Given the description of an element on the screen output the (x, y) to click on. 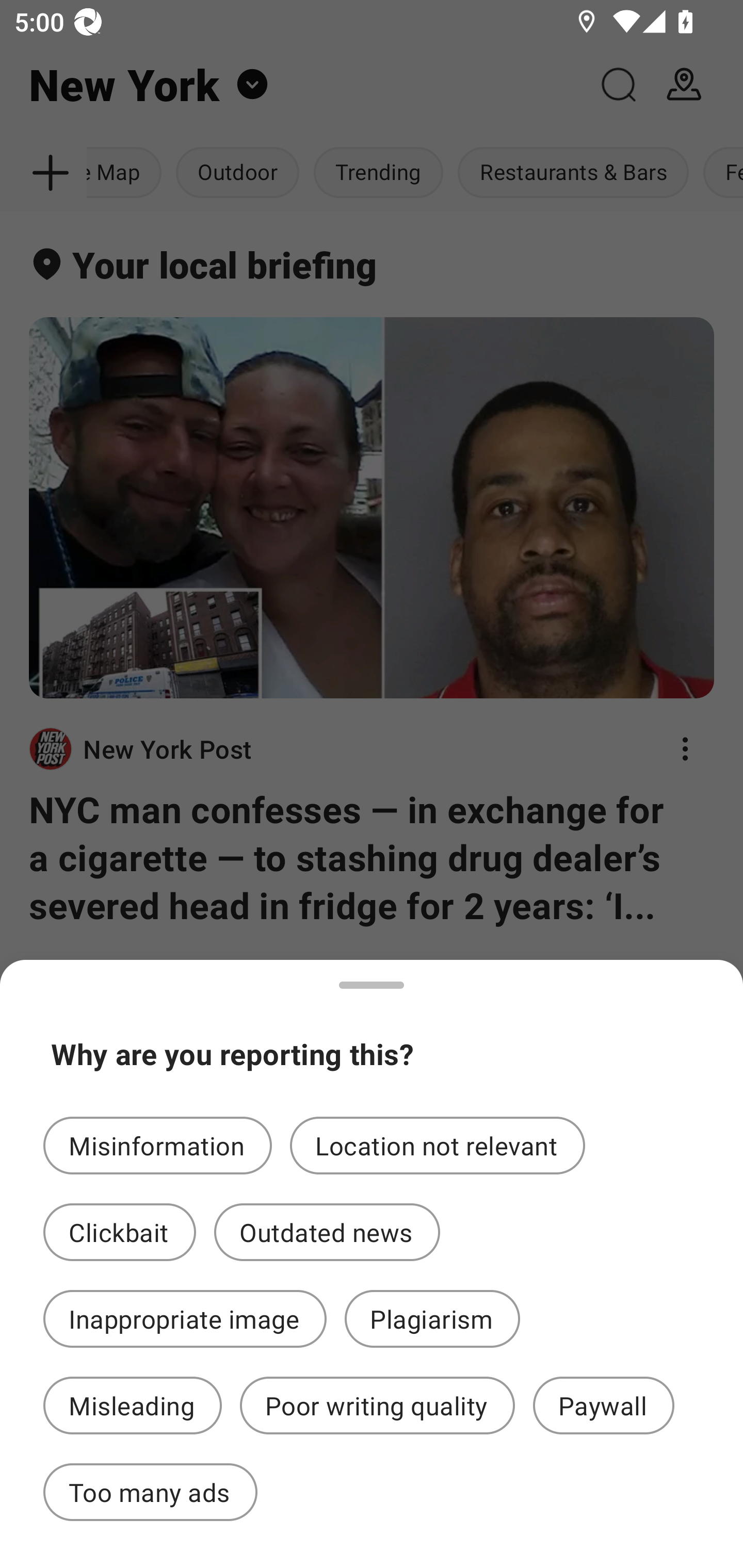
Misinformation (157, 1145)
Location not relevant (437, 1145)
Clickbait (119, 1231)
Outdated news (326, 1231)
Inappropriate image (184, 1319)
Plagiarism (432, 1319)
Misleading (132, 1405)
Poor writing quality (376, 1405)
Paywall (603, 1405)
Too many ads (150, 1491)
